Given the description of an element on the screen output the (x, y) to click on. 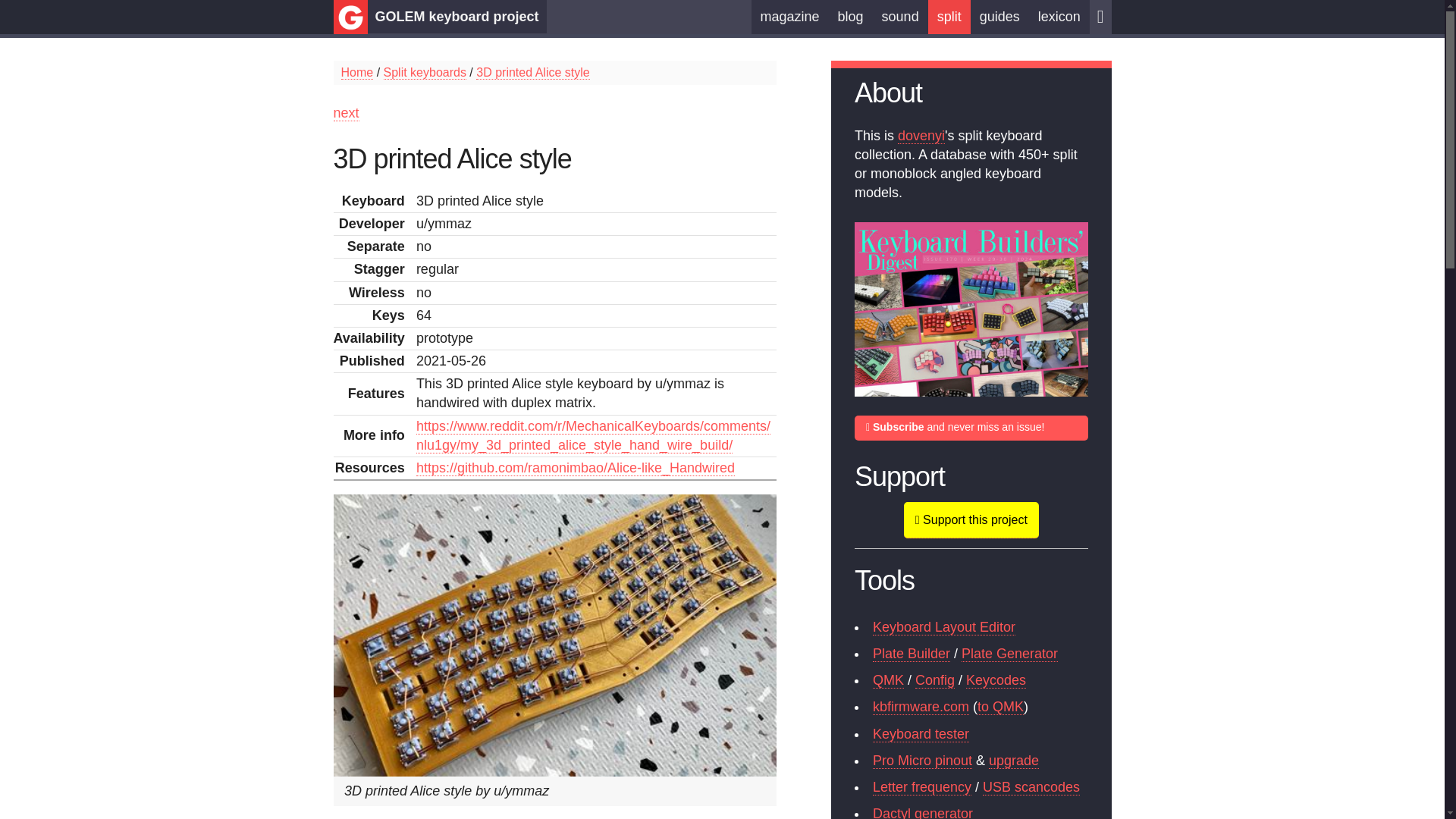
QMK (888, 680)
Plate Builder (911, 653)
Split keyboards (424, 72)
Plate Generator (1009, 653)
Keycodes (996, 680)
dovenyi (921, 135)
magazine (789, 17)
lexicon (1059, 17)
3D printed Alice style (532, 72)
blog (850, 17)
Support this project (971, 520)
Subscribe and never miss an issue! (970, 427)
split (949, 17)
Keyboard Layout Editor (943, 627)
GOLEM keyboard project (456, 16)
